Given the description of an element on the screen output the (x, y) to click on. 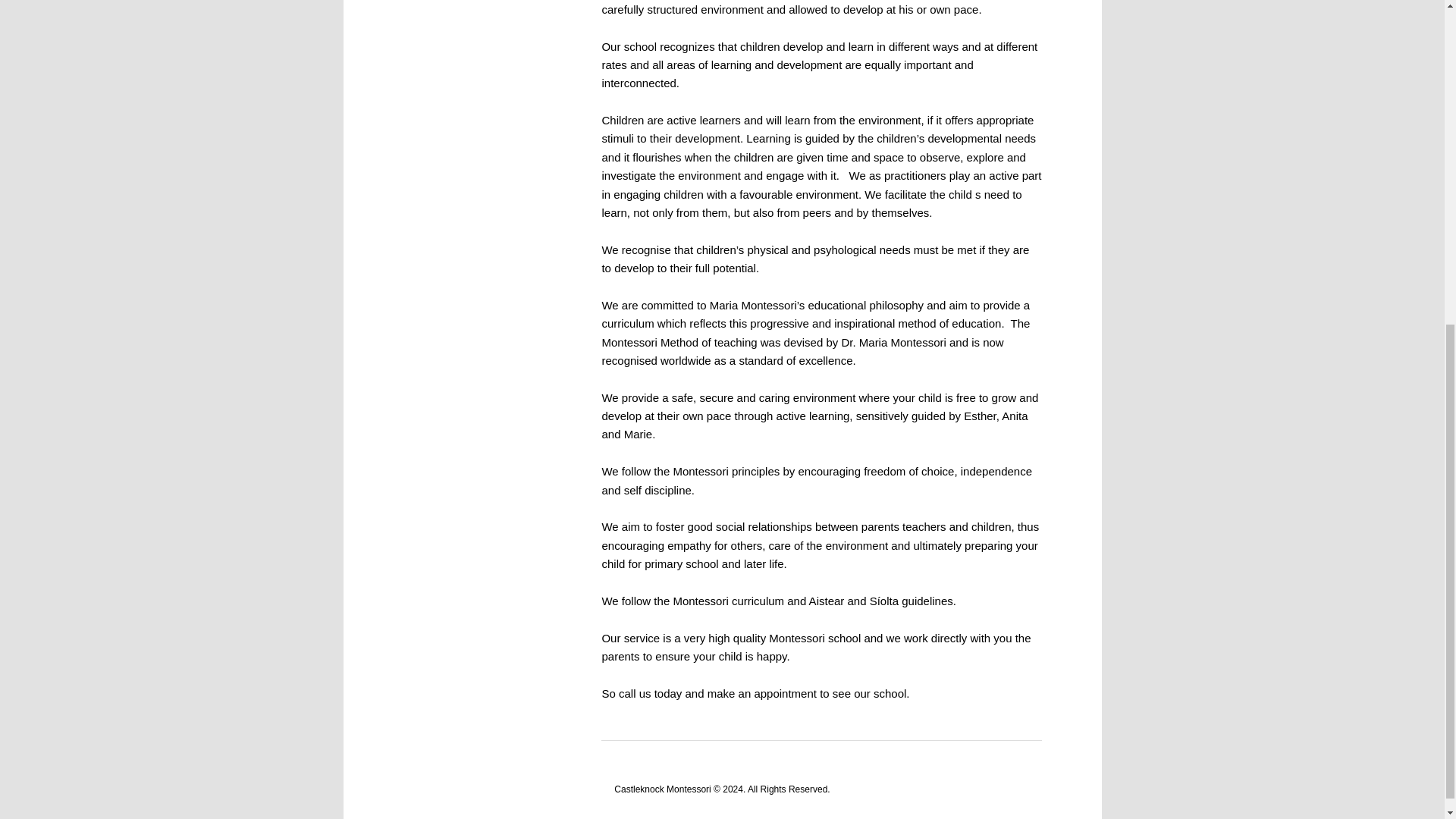
Contact (448, 12)
